Given the description of an element on the screen output the (x, y) to click on. 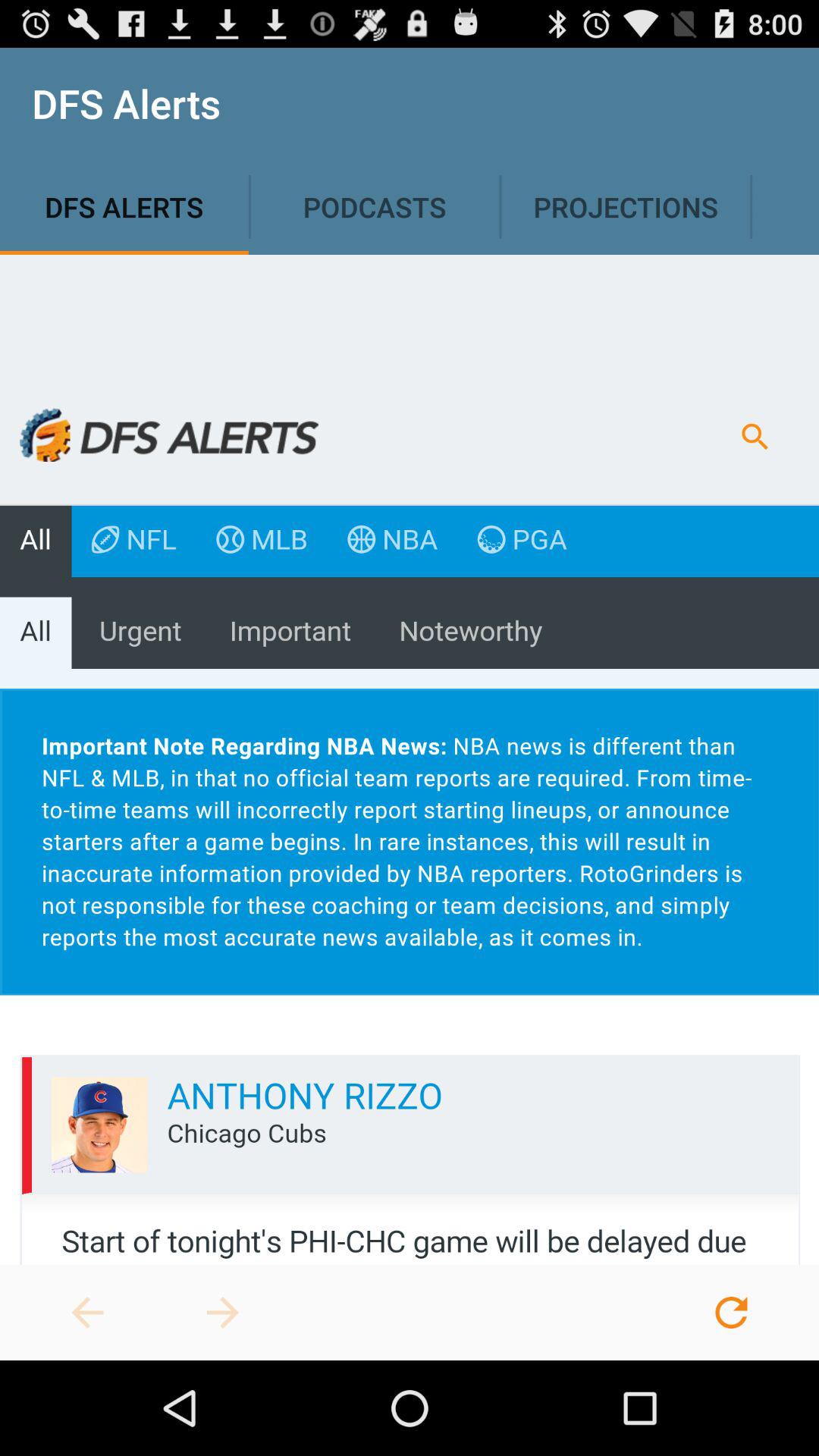
refresh the page (731, 1312)
